Given the description of an element on the screen output the (x, y) to click on. 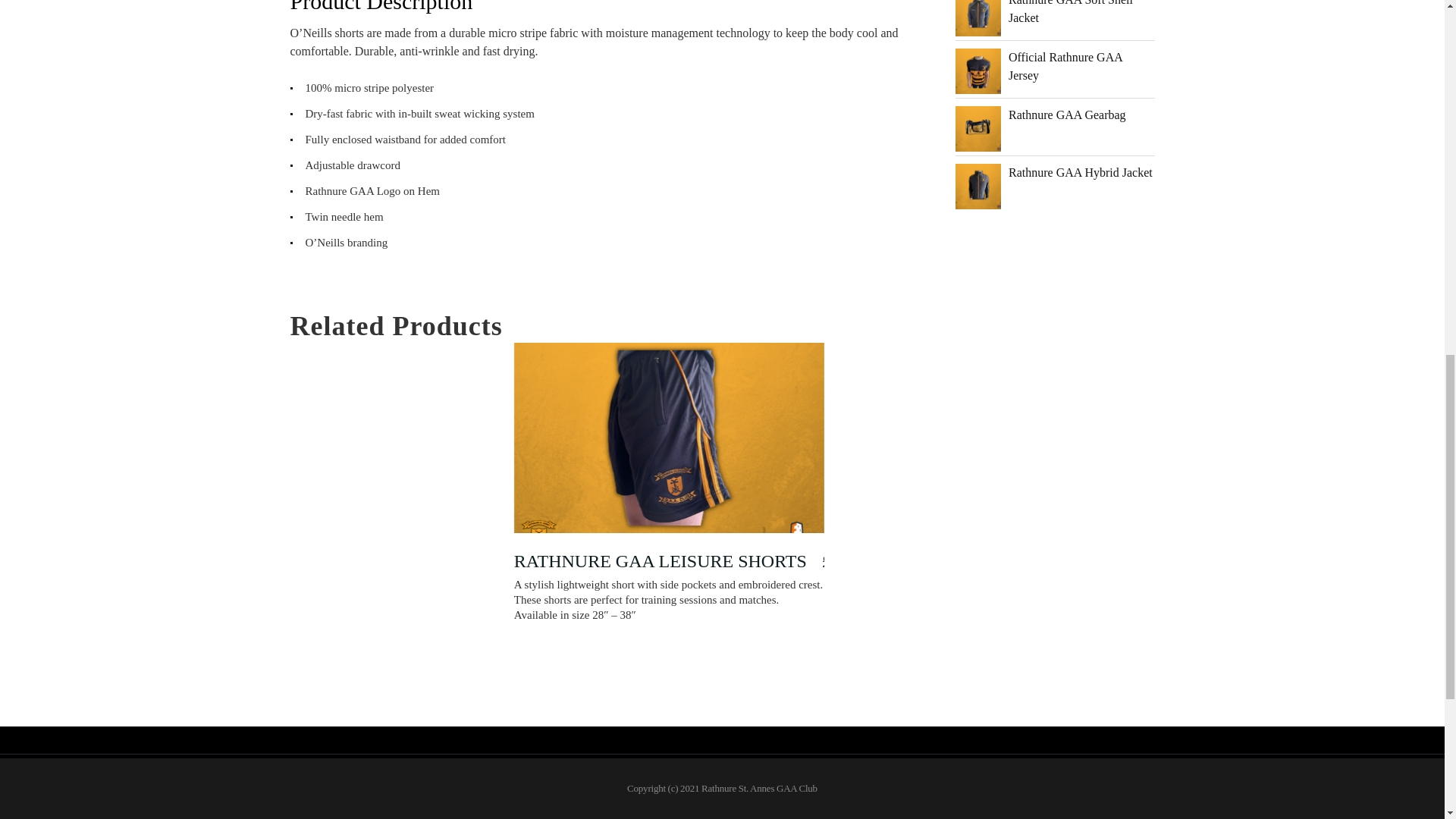
Rathnure GAA Leisure Shorts (668, 456)
